Given the description of an element on the screen output the (x, y) to click on. 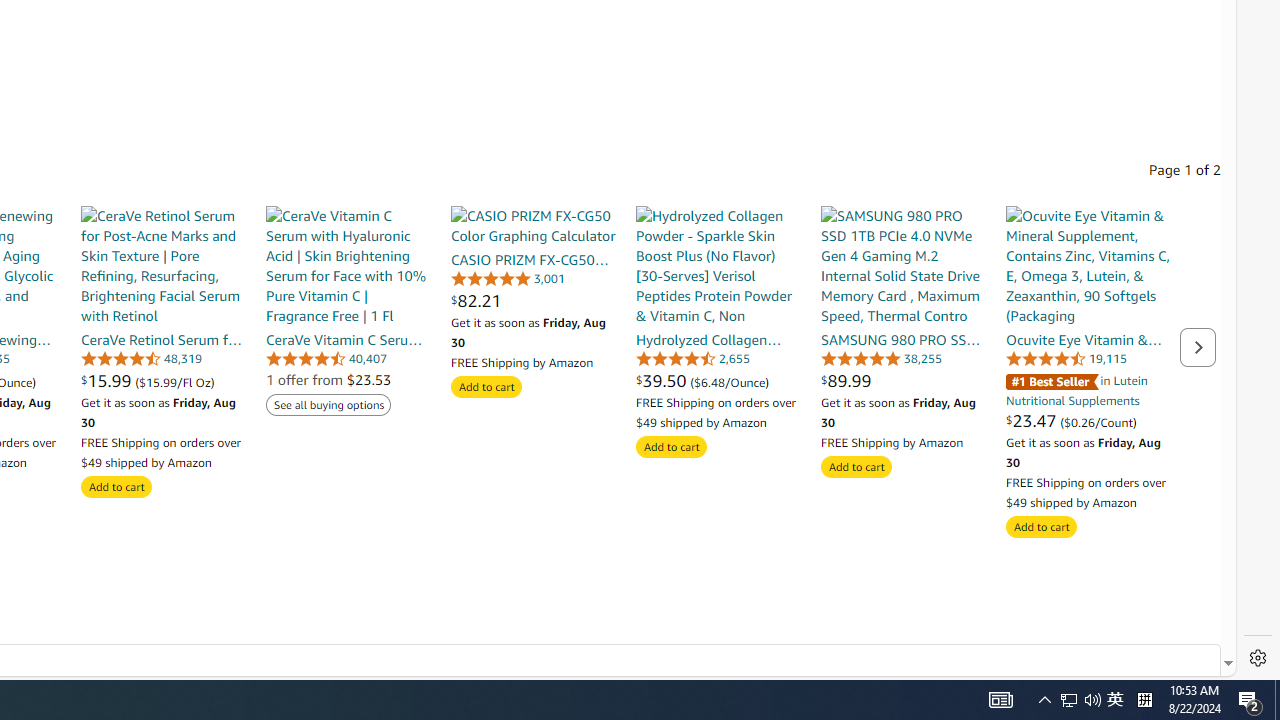
($6.48/Ounce) (729, 381)
($0.26/Count) (1097, 421)
Class: a-link-normal (1088, 339)
$89.99 (902, 379)
Class: a-link-normal a-text-normal (1088, 420)
$39.50  (663, 379)
